Given the description of an element on the screen output the (x, y) to click on. 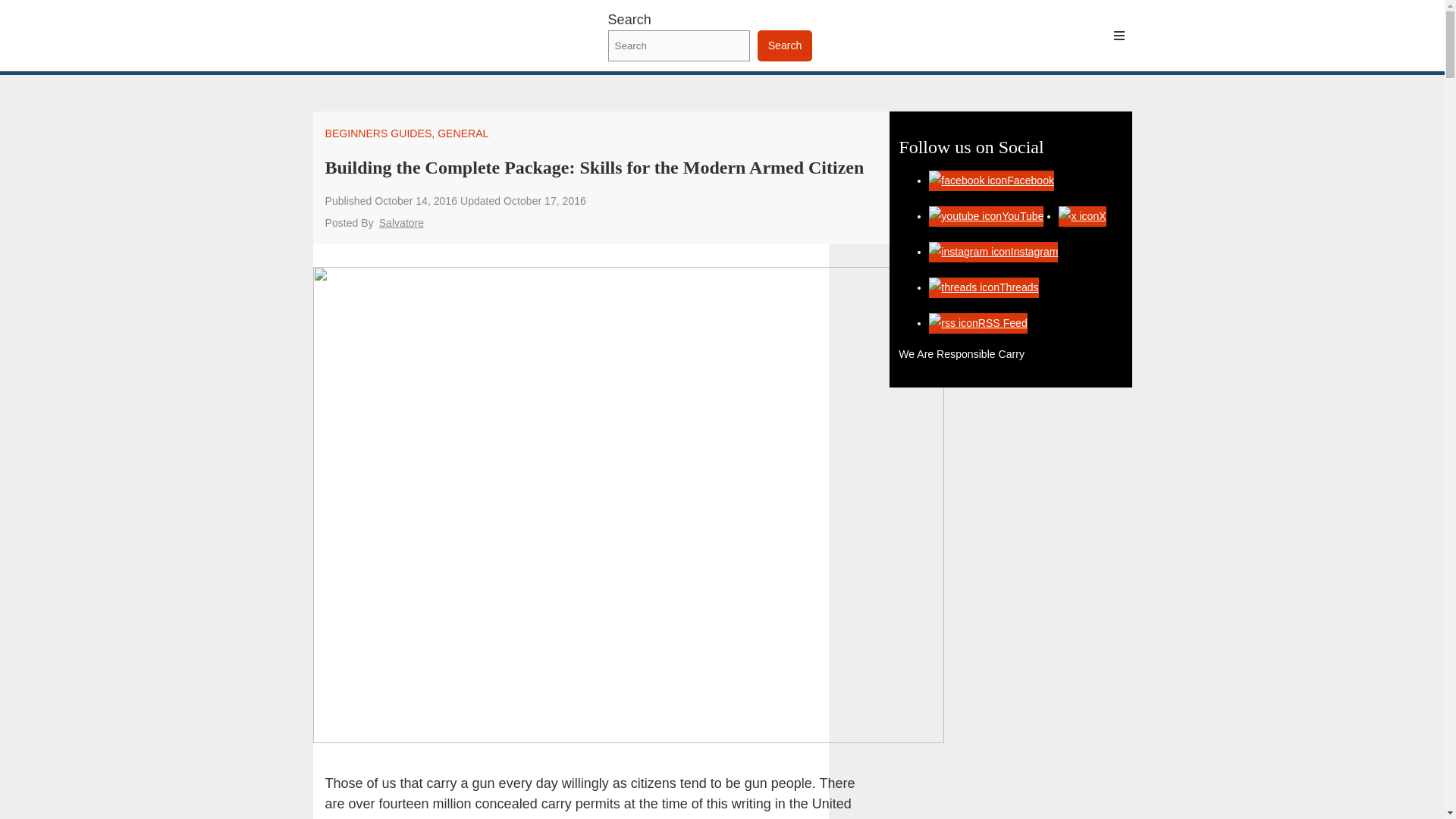
Search (784, 45)
GENERAL (462, 133)
Salvatore (400, 223)
BEGINNERS GUIDES (377, 133)
